Given the description of an element on the screen output the (x, y) to click on. 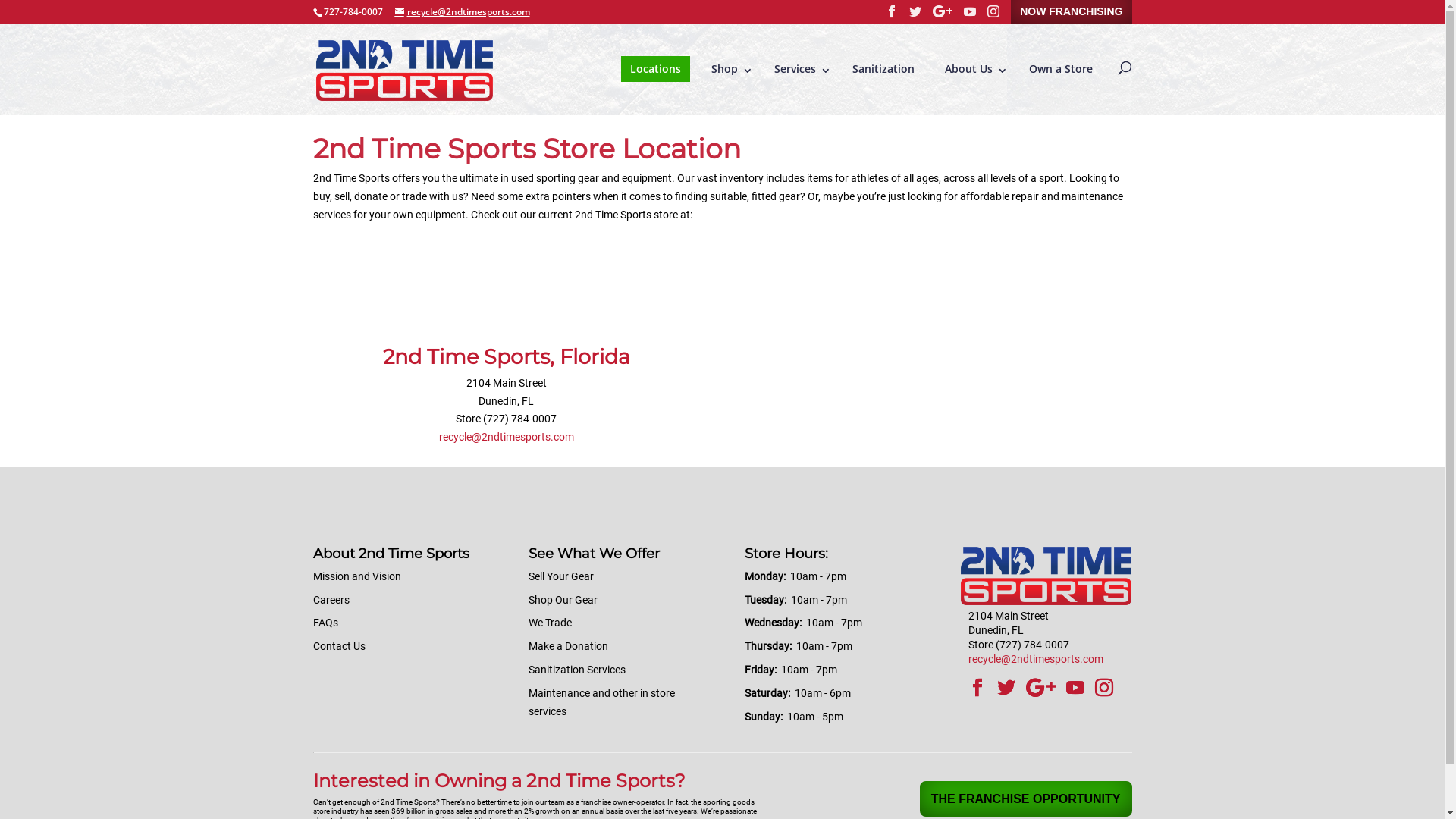
Careers Element type: text (330, 599)
Maintenance and other in store services Element type: text (601, 702)
Sell Your Gear Element type: text (560, 576)
Sanitization Services Element type: text (576, 669)
Mission and Vision Element type: text (356, 576)
About Us Element type: text (971, 68)
Shop Element type: text (727, 68)
Shop Our Gear Element type: text (562, 599)
FAQs Element type: text (324, 622)
Make a Donation Element type: text (568, 646)
Contact Us Element type: text (338, 646)
recycle@2ndtimesports.com Element type: text (506, 436)
Locations Element type: text (654, 68)
We Trade Element type: text (549, 622)
THE FRANCHISE OPPORTUNITY Element type: text (1025, 798)
Own a Store Element type: text (1060, 68)
Sanitization Element type: text (883, 68)
Services Element type: text (797, 68)
recycle@2ndtimesports.com Element type: text (461, 11)
recycle@2ndtimesports.com Element type: text (1035, 658)
